Given the description of an element on the screen output the (x, y) to click on. 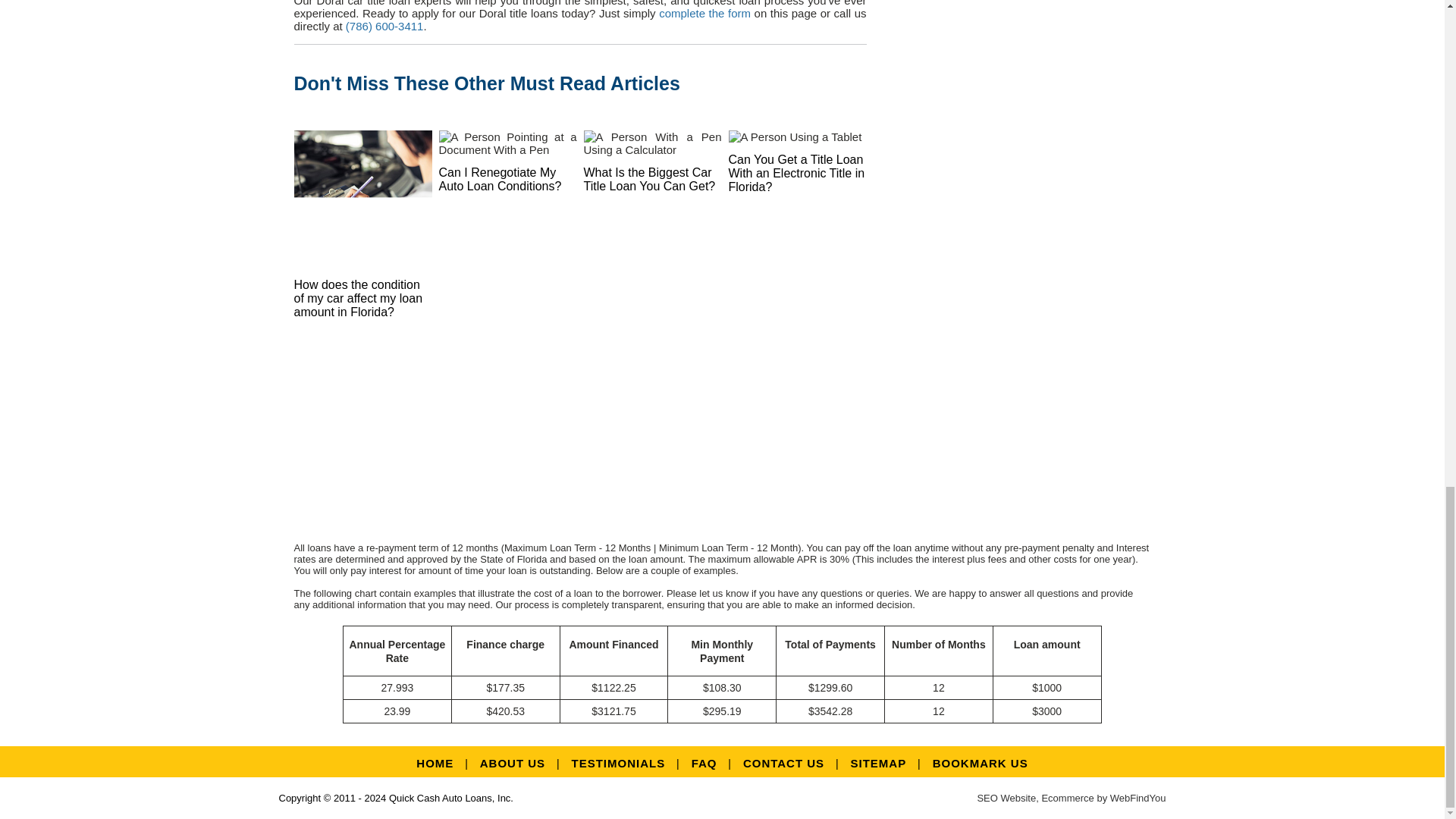
Can I Renegotiate My Auto Loan Conditions? (499, 179)
complete the form (705, 12)
What Is the Biggest Car Title Loan You Can Get? (649, 179)
